Given the description of an element on the screen output the (x, y) to click on. 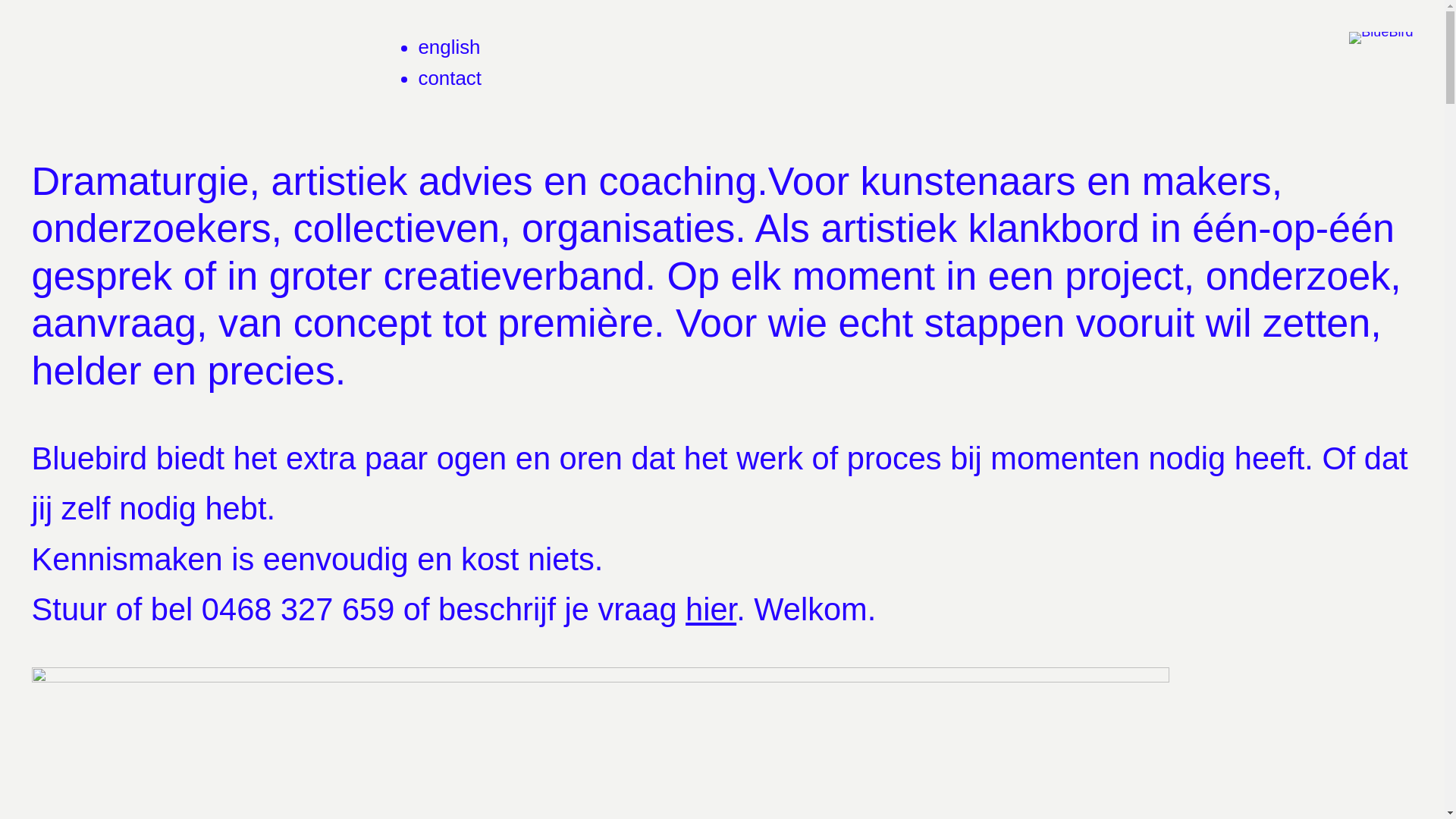
contact Element type: text (449, 77)
english Element type: text (448, 46)
hier Element type: text (710, 609)
